Given the description of an element on the screen output the (x, y) to click on. 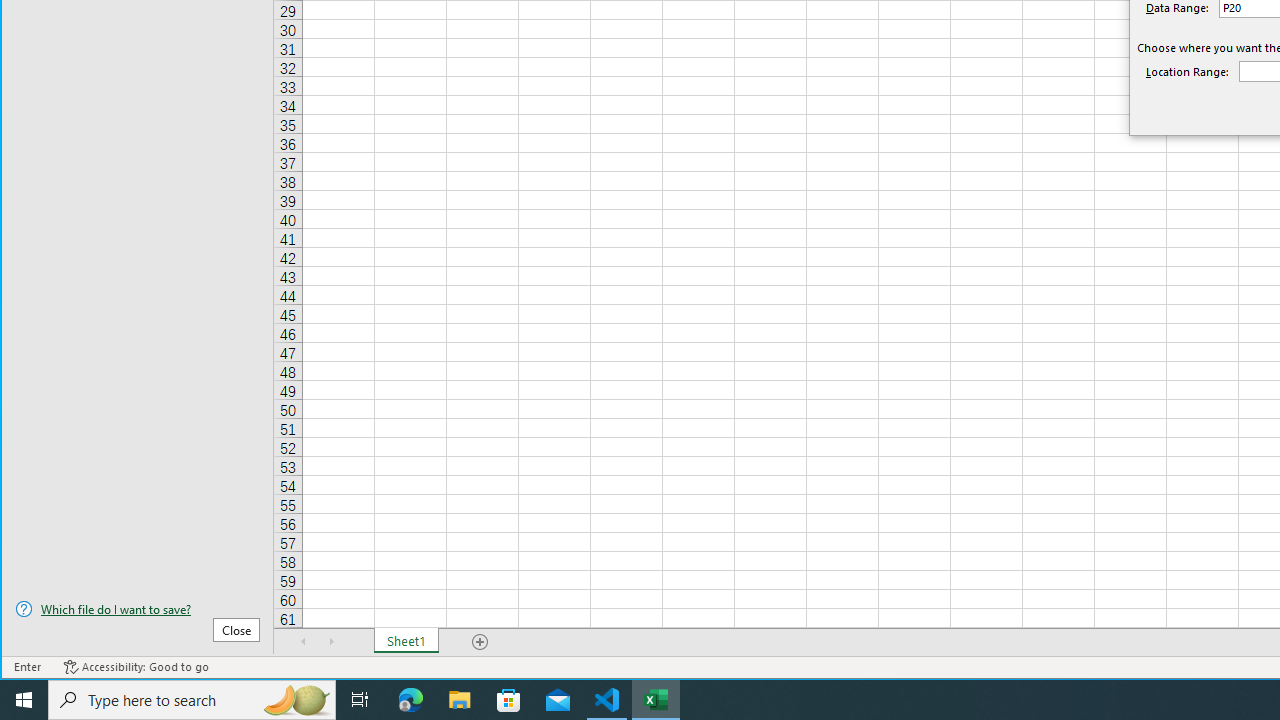
Sheet1 (406, 641)
Add Sheet (481, 641)
Close (235, 629)
Scroll Right (331, 641)
Scroll Left (303, 641)
Which file do I want to save? (137, 609)
Accessibility Checker Accessibility: Good to go (136, 667)
